Given the description of an element on the screen output the (x, y) to click on. 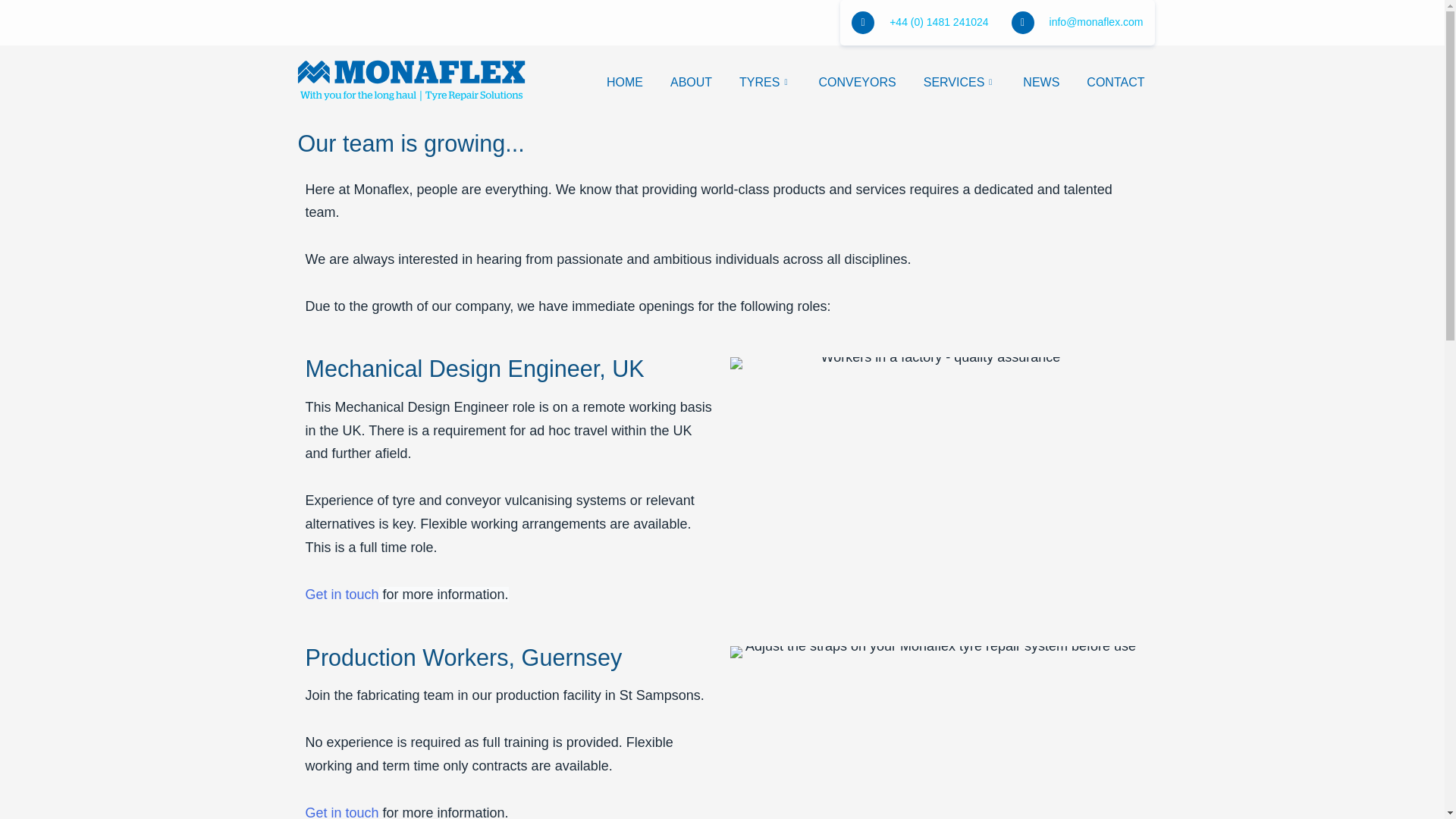
ABOUT (690, 82)
NEWS (1041, 82)
CONVEYORS (856, 82)
Get in touch (341, 594)
Get in touch (341, 812)
CONTACT (1115, 82)
TYRES (765, 82)
SERVICES (960, 82)
HOME (624, 82)
